Given the description of an element on the screen output the (x, y) to click on. 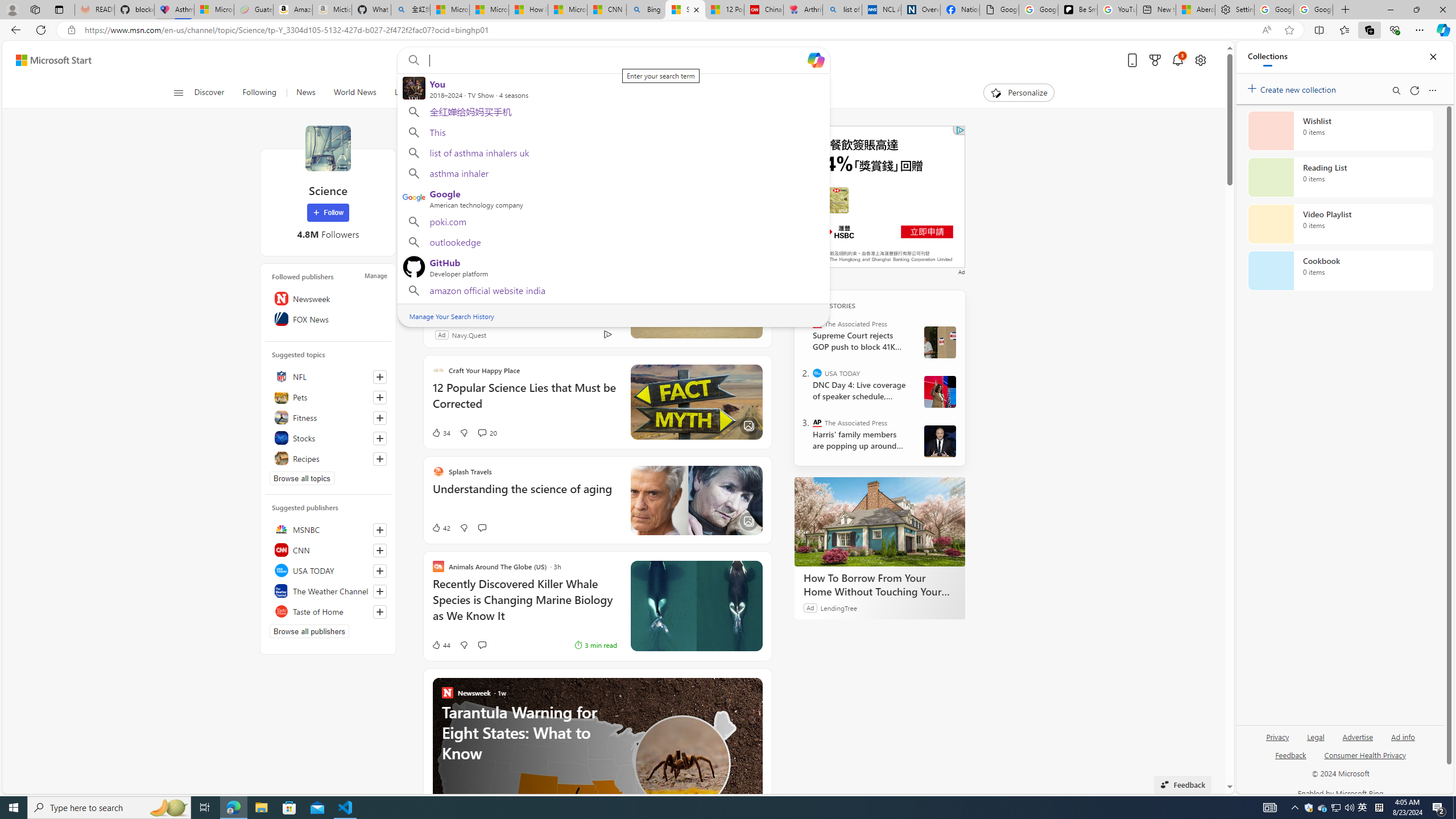
list of asthma inhalers uk - Search (842, 9)
Aberdeen, Hong Kong SAR hourly forecast | Microsoft Weather (1195, 9)
How I Got Rid of Microsoft Edge's Unnecessary Features (528, 9)
